Given the description of an element on the screen output the (x, y) to click on. 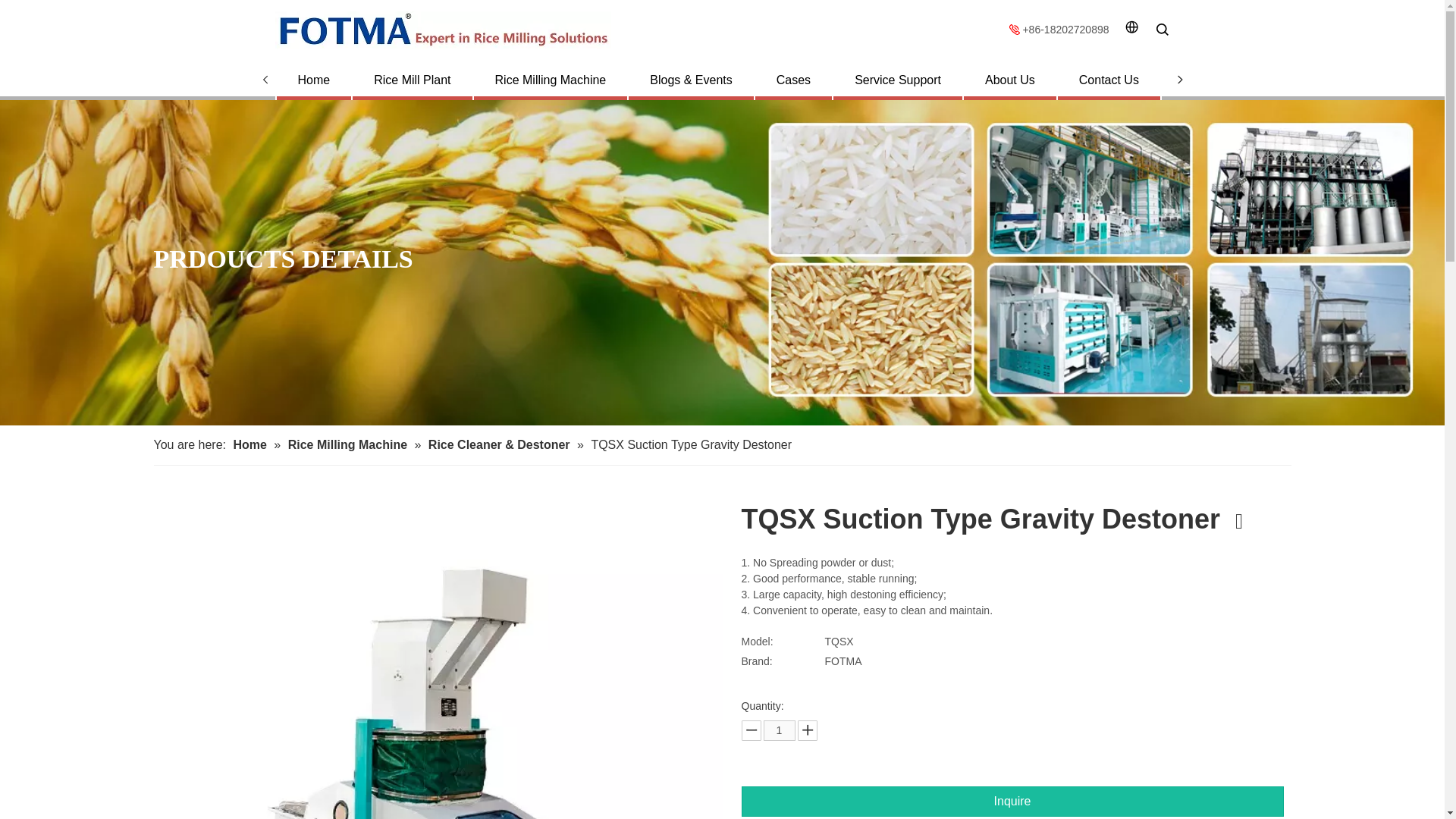
1 (778, 730)
